Given the description of an element on the screen output the (x, y) to click on. 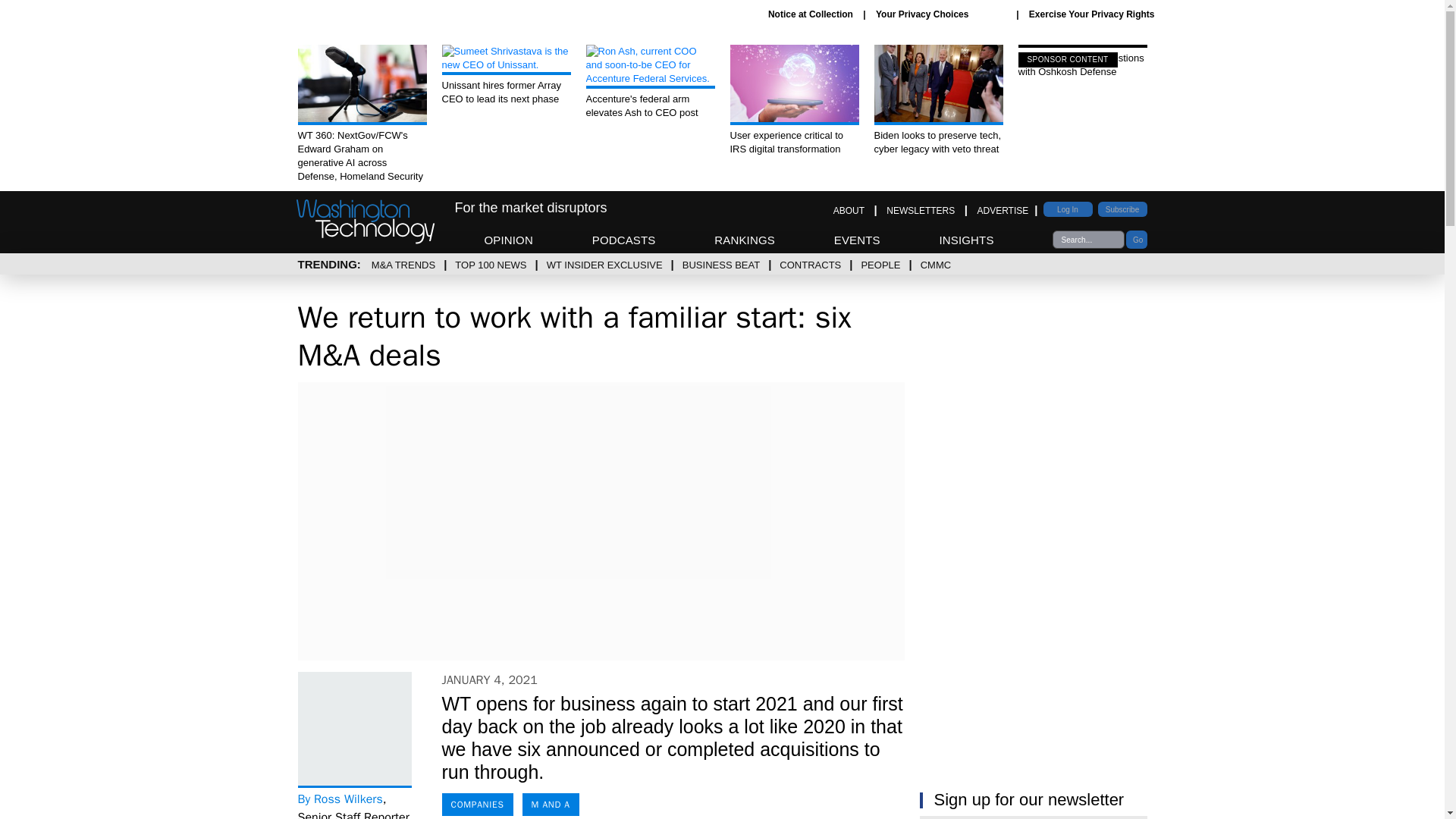
ADVERTISE (1001, 210)
Biden looks to preserve tech, cyber legacy with veto threat (938, 100)
INSIGHTS (966, 239)
User experience critical to IRS digital transformation (794, 100)
Notice at Collection (810, 14)
RANKINGS (744, 239)
Unissant hires former Array CEO to lead its next phase (505, 75)
EVENTS (857, 239)
Go (1136, 239)
Accenture's federal arm elevates Ash to CEO post (649, 82)
Your Privacy Choices (941, 14)
OPINION (507, 239)
Exercise Your Privacy Rights (1091, 14)
NEWSLETTERS (920, 210)
